Given the description of an element on the screen output the (x, y) to click on. 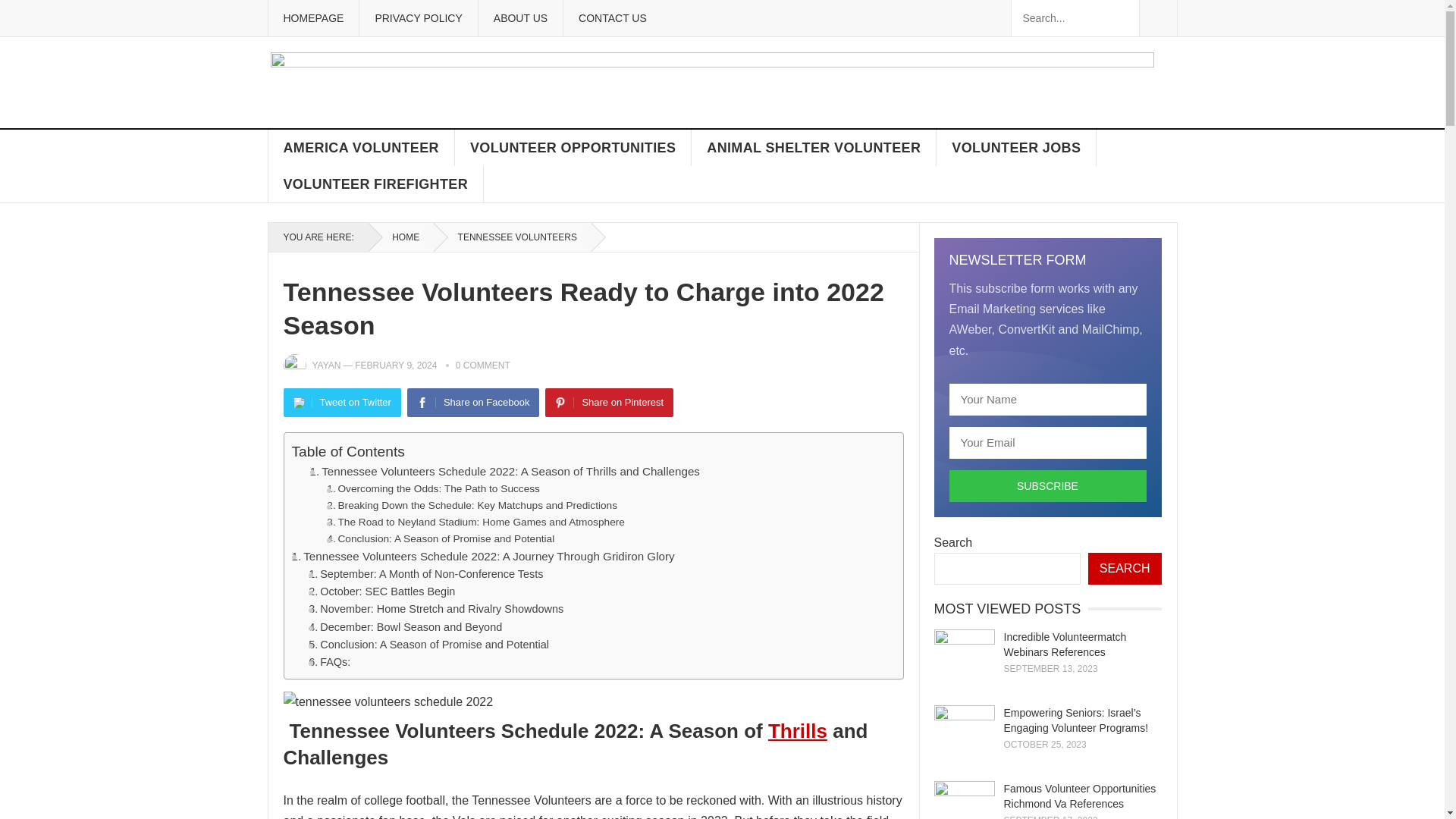
VOLUNTEER OPPORTUNITIES (572, 147)
ABOUT US (519, 18)
Subscribe (1048, 486)
September: A Month of Non-Conference Tests (425, 574)
CONTACT US (612, 18)
Breaking Down the Schedule: Key Matchups and Predictions (471, 505)
September: A Month of Non-Conference Tests (425, 574)
Conclusion: A Season of Promise and Potential (428, 644)
Conclusion: A Season of Promise and Potential (428, 644)
October: SEC Battles Begin (381, 591)
The Road to Neyland Stadium: Home Games and Atmosphere (475, 522)
ANIMAL SHELTER VOLUNTEER (813, 147)
Posts by Yayan (326, 365)
December: Bowl Season and Beyond (405, 627)
0 COMMENT (483, 365)
